Given the description of an element on the screen output the (x, y) to click on. 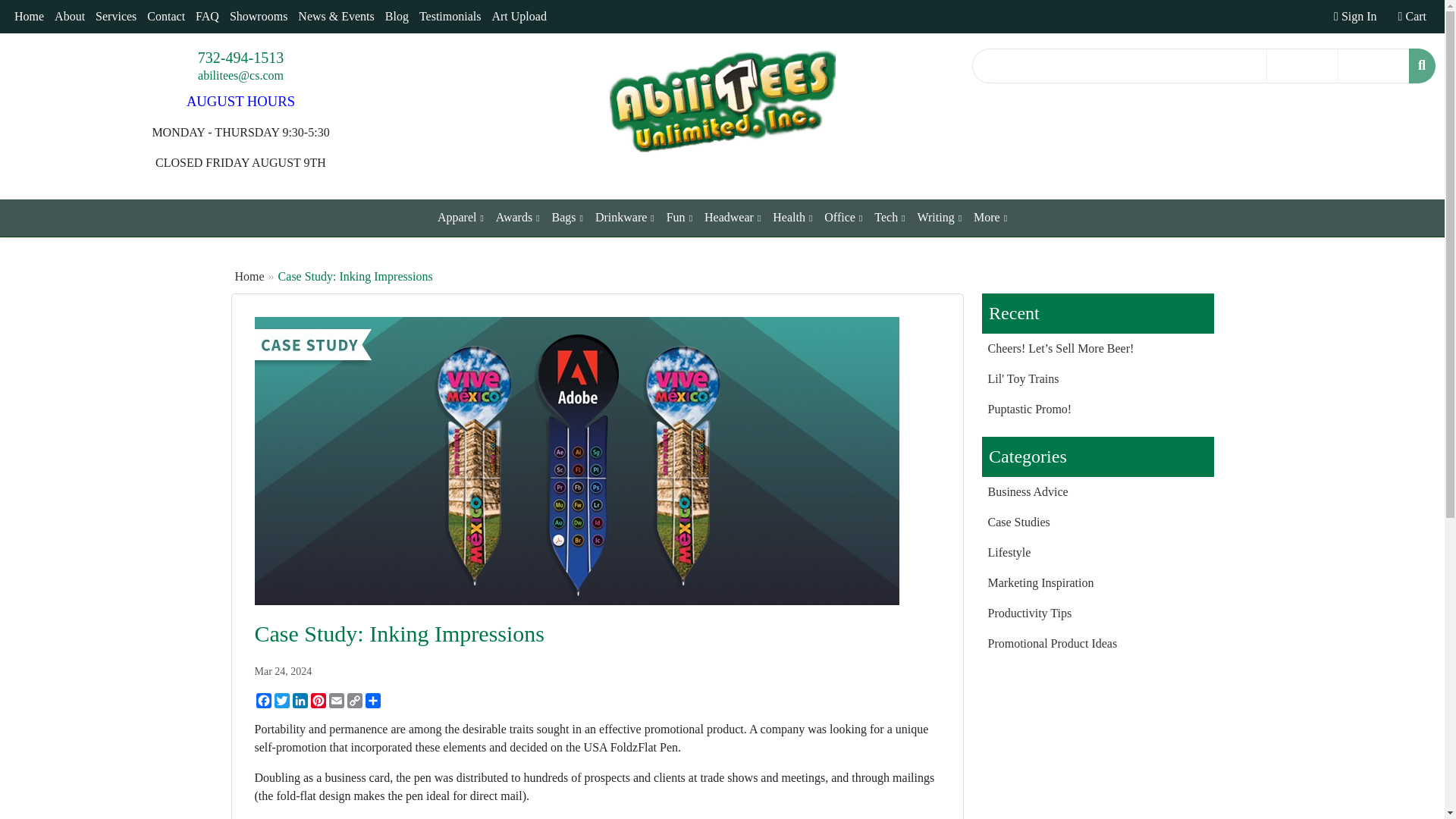
Apparel (459, 217)
About (69, 16)
Home (28, 16)
Blog (396, 16)
Cart (1412, 16)
Testimonials (449, 16)
FAQ (207, 16)
Contact (165, 16)
732-494-1513 (240, 57)
Showrooms (258, 16)
